Given the description of an element on the screen output the (x, y) to click on. 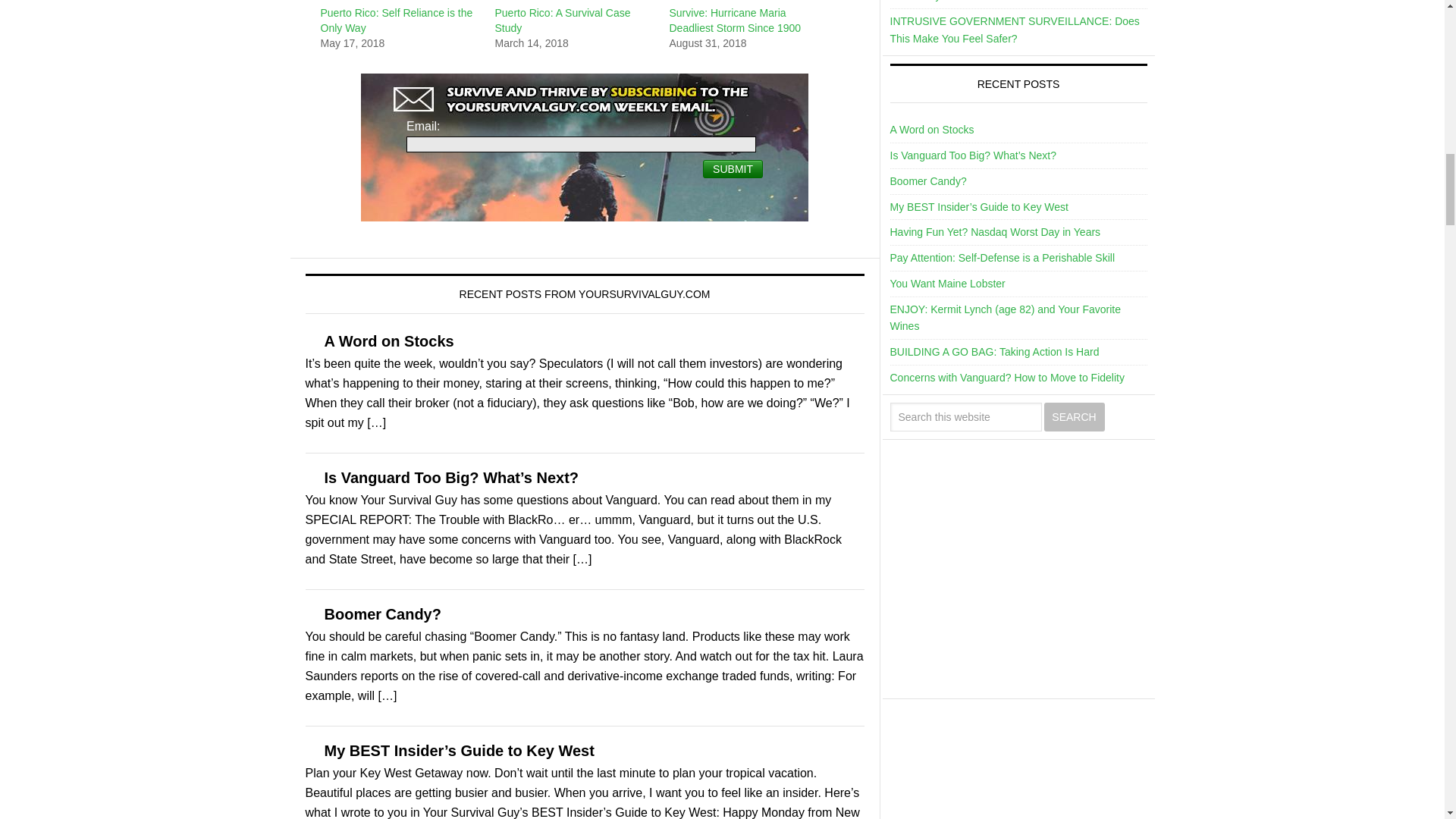
Search (1073, 416)
Search (1073, 416)
Puerto Rico: Self Reliance is the Only Way (395, 20)
Submit (732, 168)
